Given the description of an element on the screen output the (x, y) to click on. 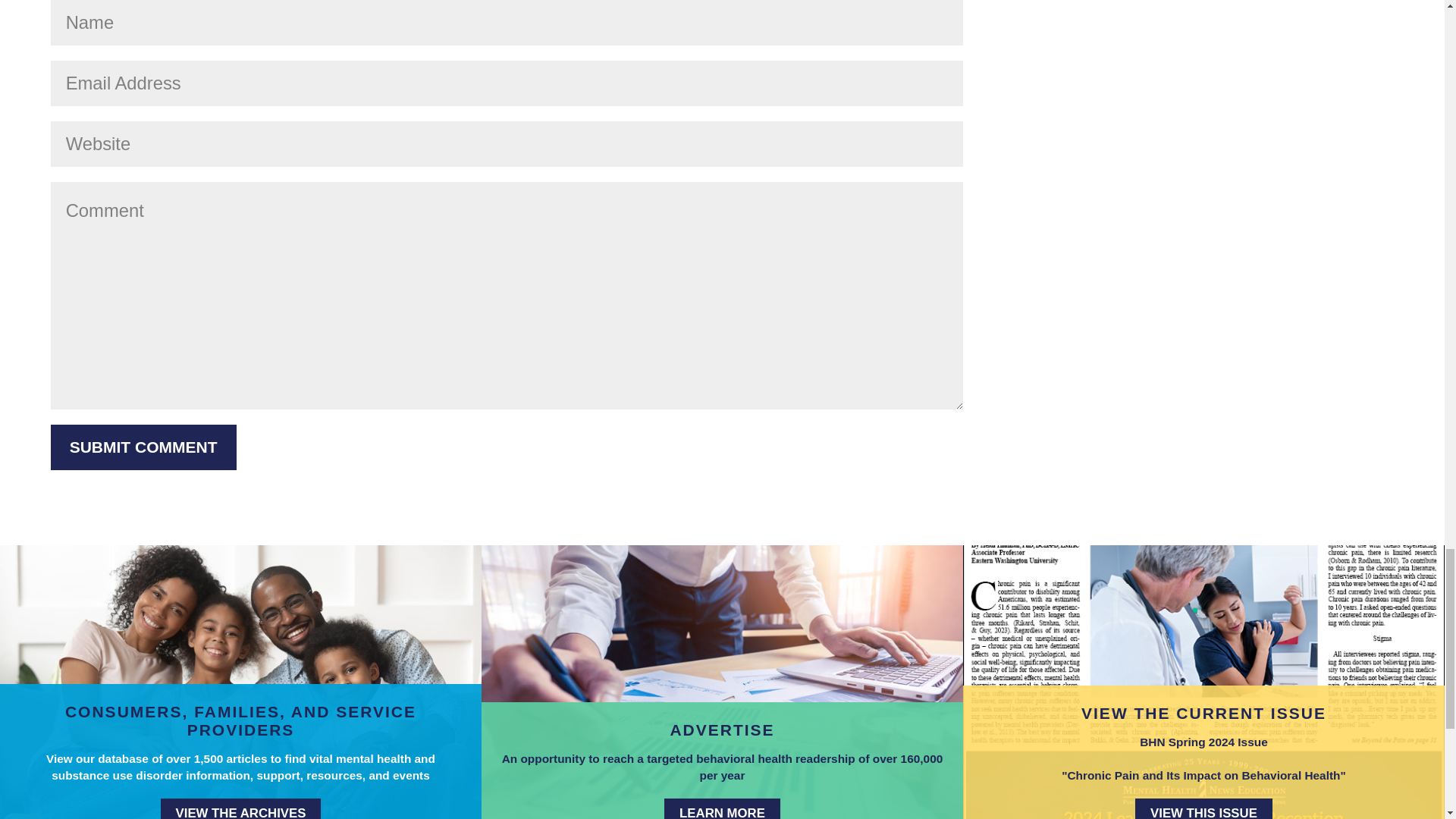
Submit Comment (142, 447)
